Given the description of an element on the screen output the (x, y) to click on. 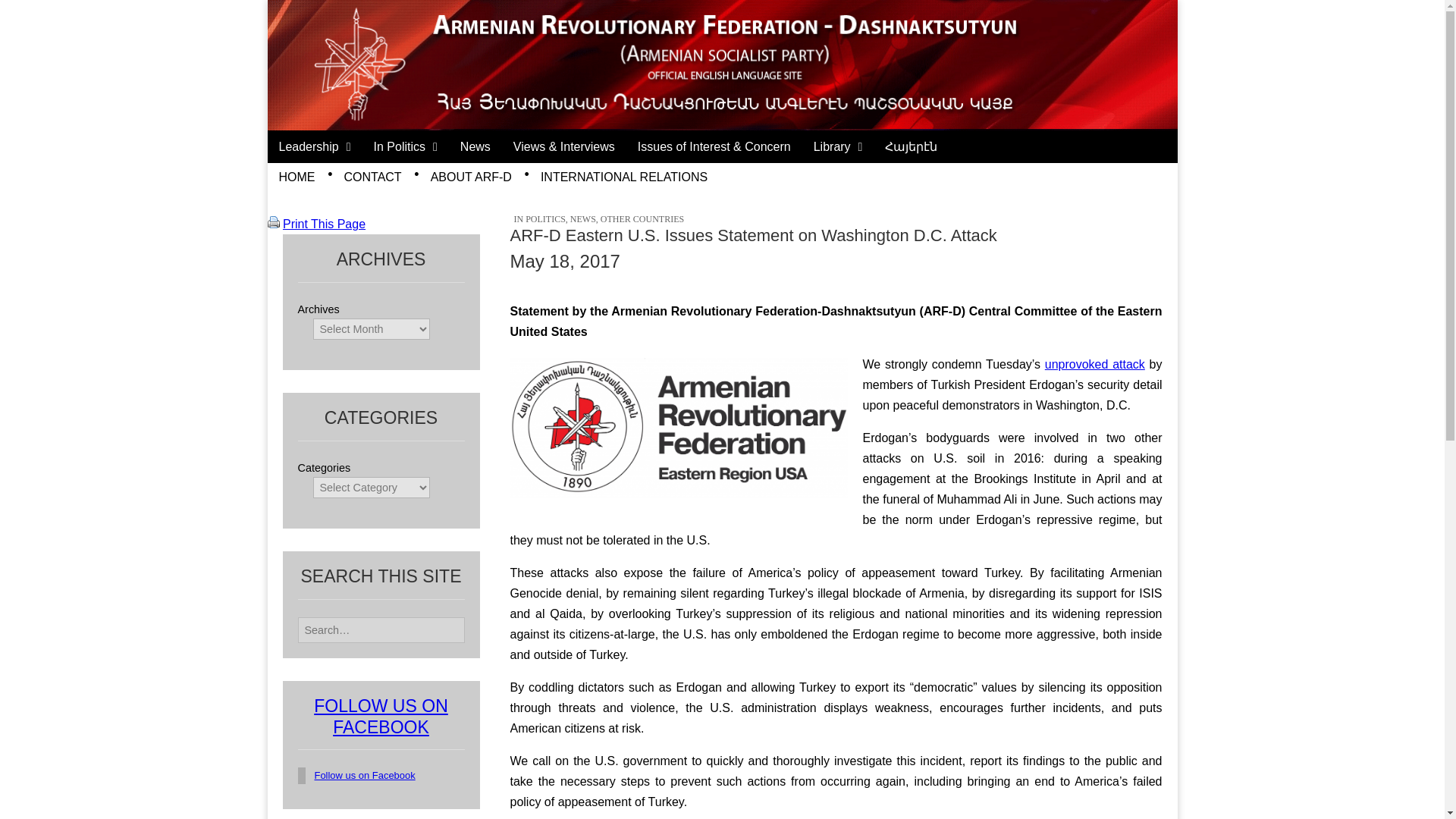
Print This Page (272, 222)
CONTACT (371, 176)
Skip to content (306, 140)
Print This Page (272, 223)
IN POLITICS (539, 218)
News (475, 146)
FOLLOW US ON FACEBOOK (381, 716)
ABOUT ARF-D (470, 176)
NEWS (582, 218)
In Politics (405, 146)
Print This Page (323, 223)
Follow us on Facebook (364, 775)
OTHER COUNTRIES (641, 218)
Leadership (313, 146)
INTERNATIONAL RELATIONS (624, 176)
